Given the description of an element on the screen output the (x, y) to click on. 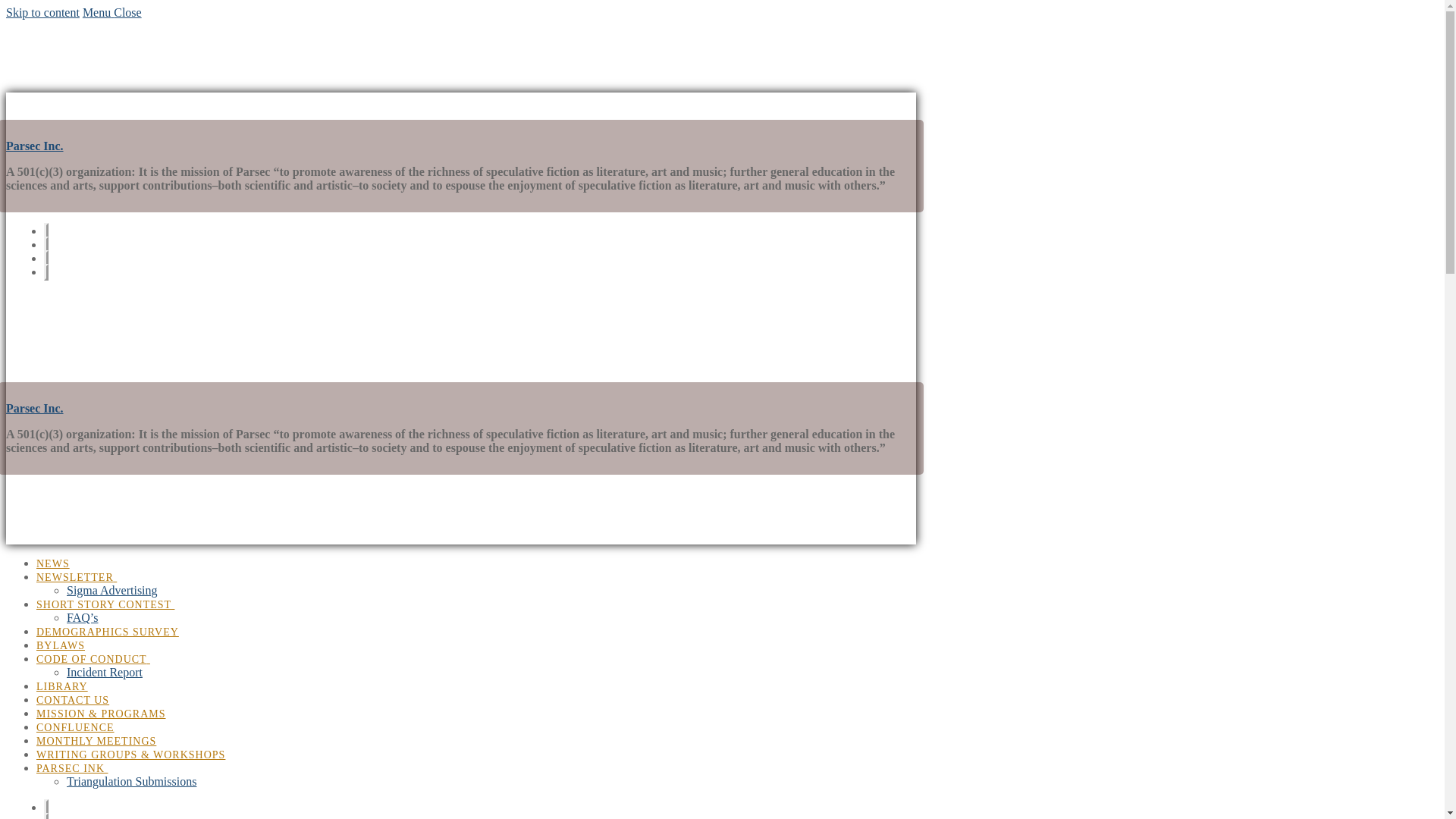
BYLAWS (68, 641)
Menu Close (111, 11)
NEWSLETTER  (84, 573)
CONFLUENCE (82, 723)
CONTACT US (79, 696)
NEWS (60, 559)
PARSEC INK  (79, 764)
Parsec Inc. (34, 408)
Skip to content (42, 11)
Parsec Inc. (34, 145)
